Given the description of an element on the screen output the (x, y) to click on. 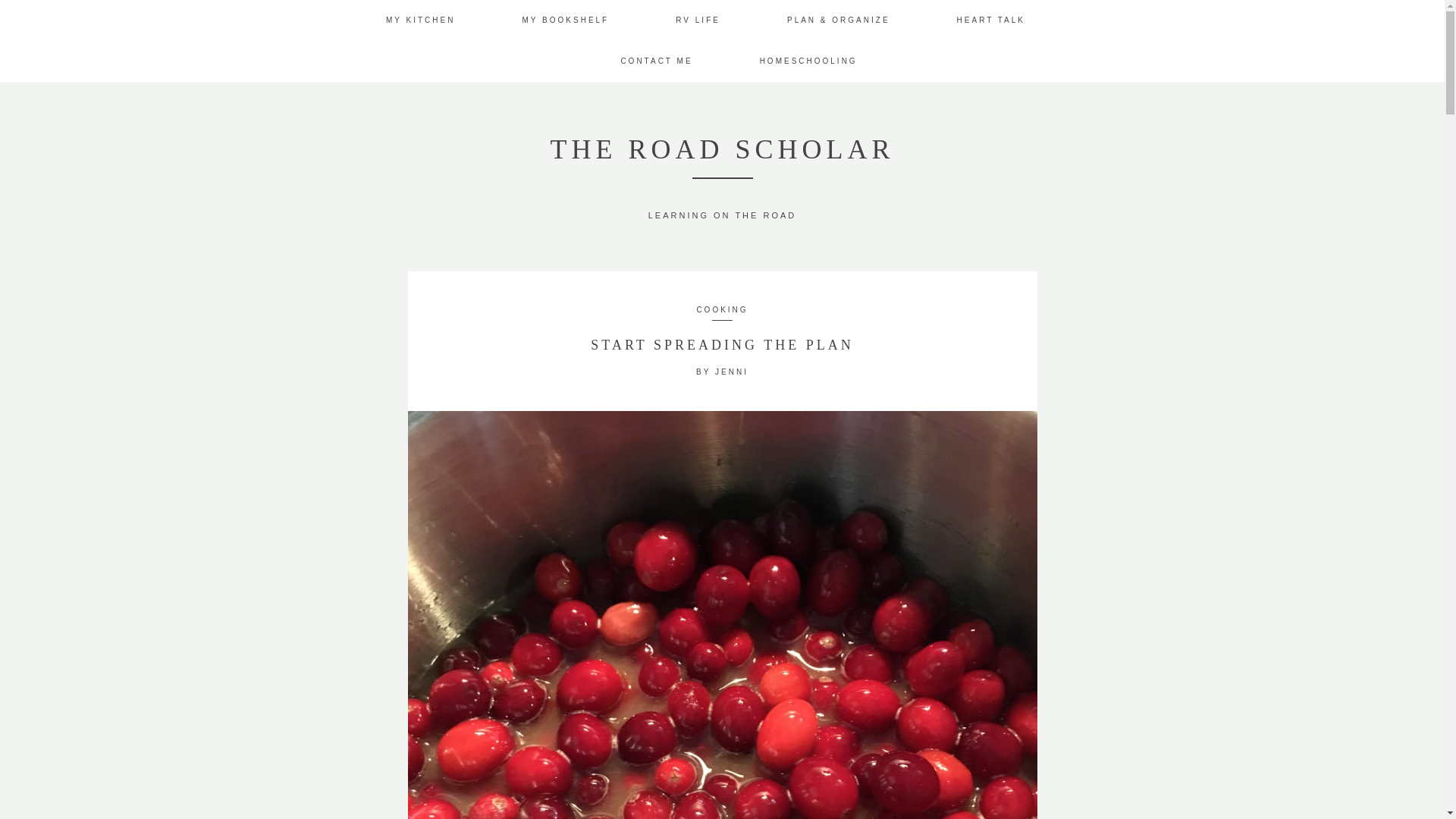
THE ROAD SCHOLAR (721, 149)
The Road Scholar (721, 149)
COOKING (721, 308)
MY BOOKSHELF (564, 20)
MY KITCHEN (420, 20)
HEART TALK (990, 20)
HOMESCHOOLING (808, 60)
JENNI (731, 371)
RV LIFE (697, 20)
CONTACT ME (656, 60)
